Given the description of an element on the screen output the (x, y) to click on. 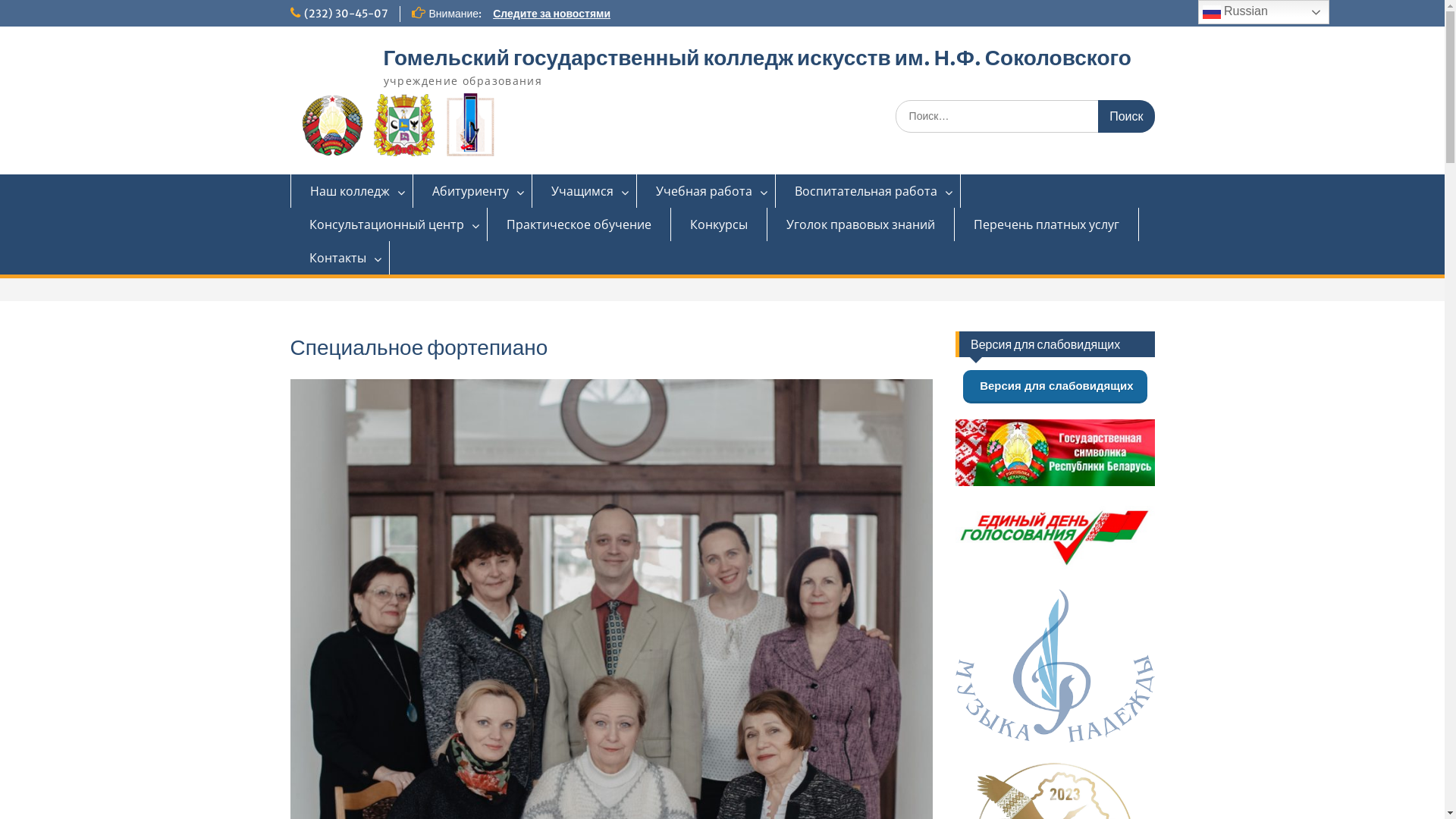
(232) 30-45-07 Element type: text (345, 13)
Russian Element type: text (1263, 12)
